Given the description of an element on the screen output the (x, y) to click on. 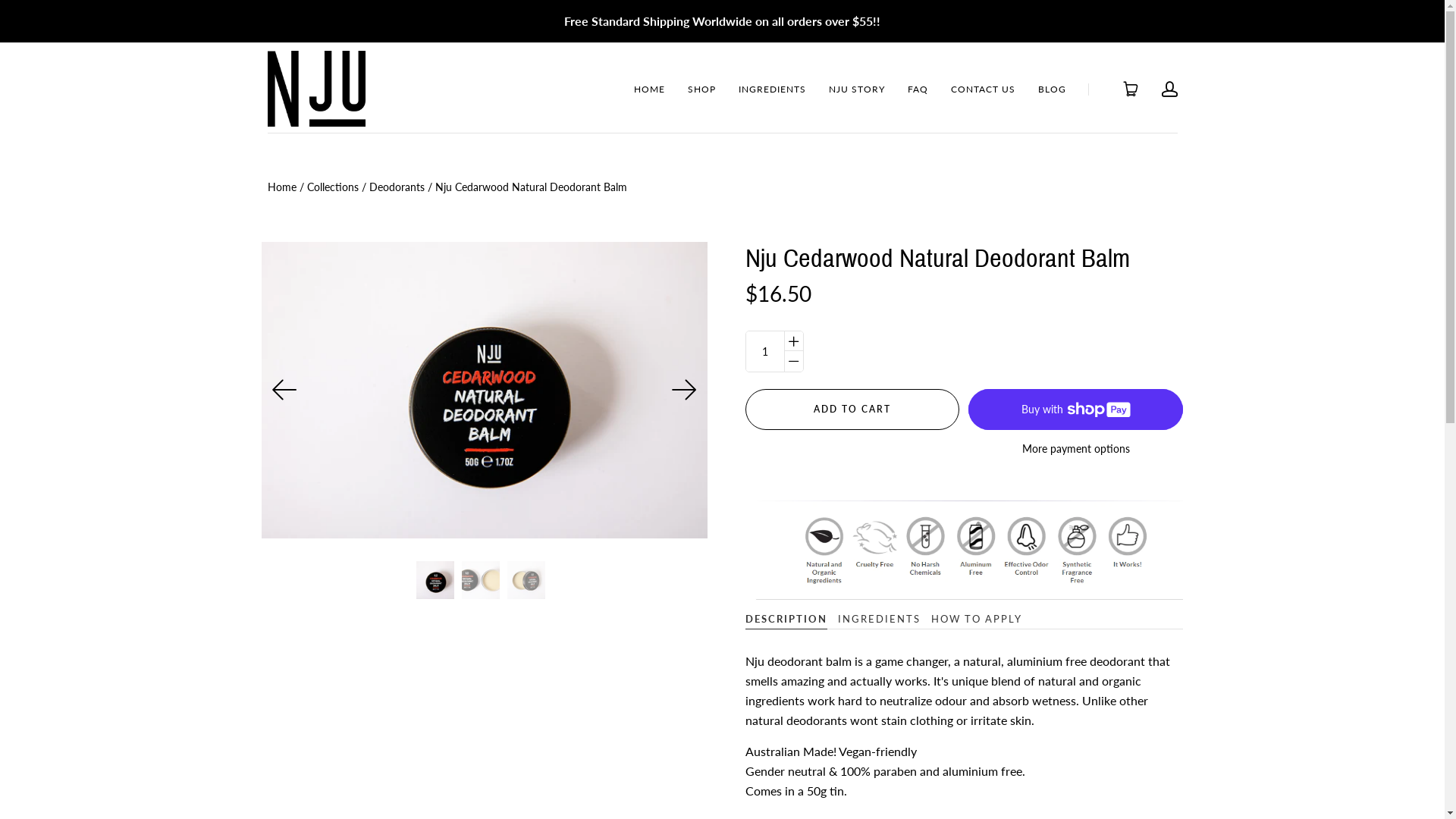
More payment options Element type: text (1075, 448)
Home Element type: text (280, 186)
CONTACT US Element type: text (982, 89)
Deodorants Element type: text (395, 186)
NJU STORY Element type: text (856, 89)
Collections Element type: text (331, 186)
Free Standard Shipping Worldwide on all orders over $55!! Element type: text (722, 21)
HOME Element type: text (649, 89)
BLOG Element type: text (1051, 89)
Add to cart Element type: text (851, 408)
INGREDIENTS Element type: text (772, 89)
FAQ Element type: text (916, 89)
SHOP Element type: text (701, 89)
